Given the description of an element on the screen output the (x, y) to click on. 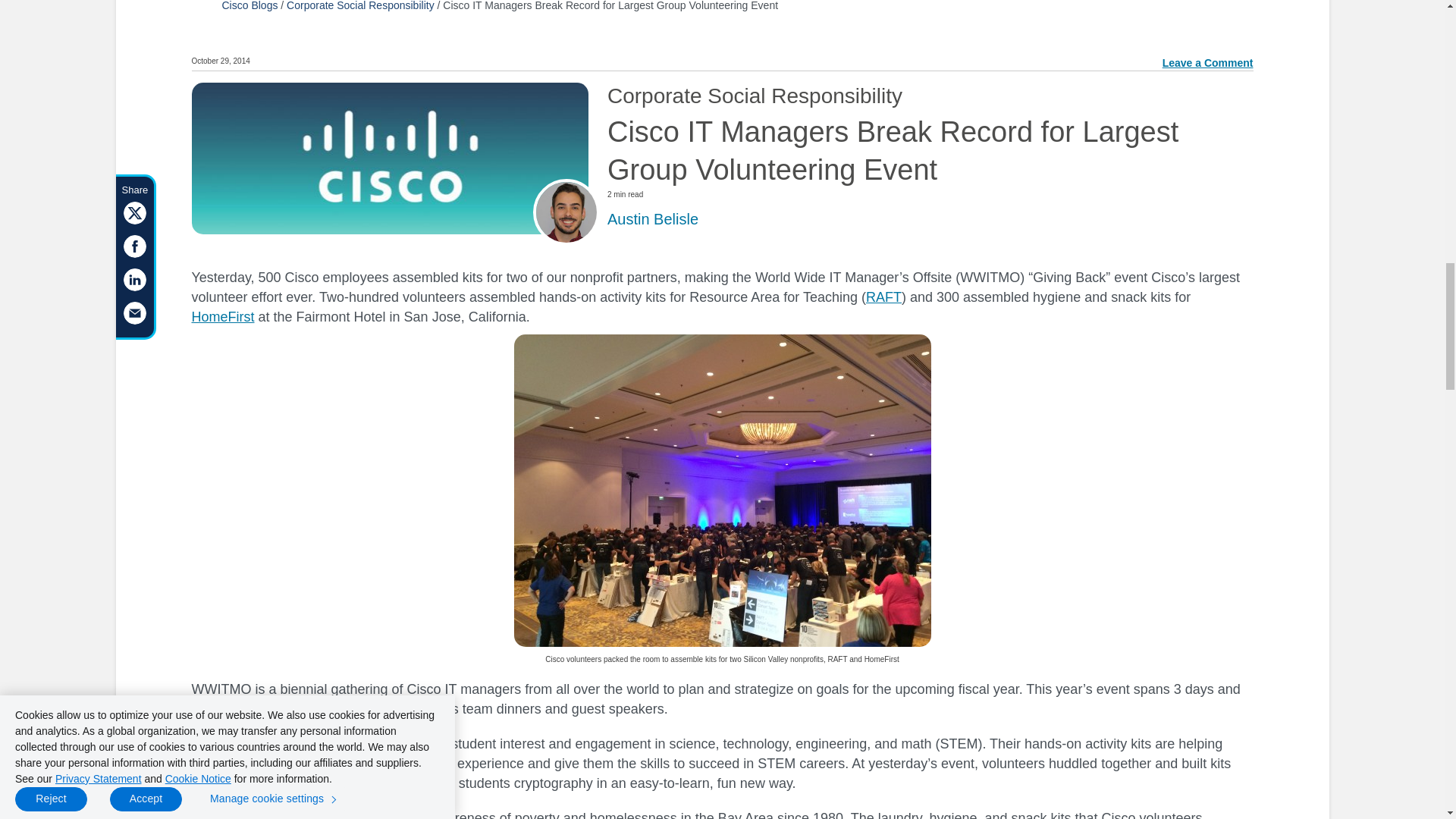
RAFT (883, 296)
Posts by Austin Belisle (652, 218)
Corporate Social Responsibility (359, 5)
Cisco Blogs (249, 5)
Austin Belisle (652, 218)
HomeFirst (221, 316)
